Given the description of an element on the screen output the (x, y) to click on. 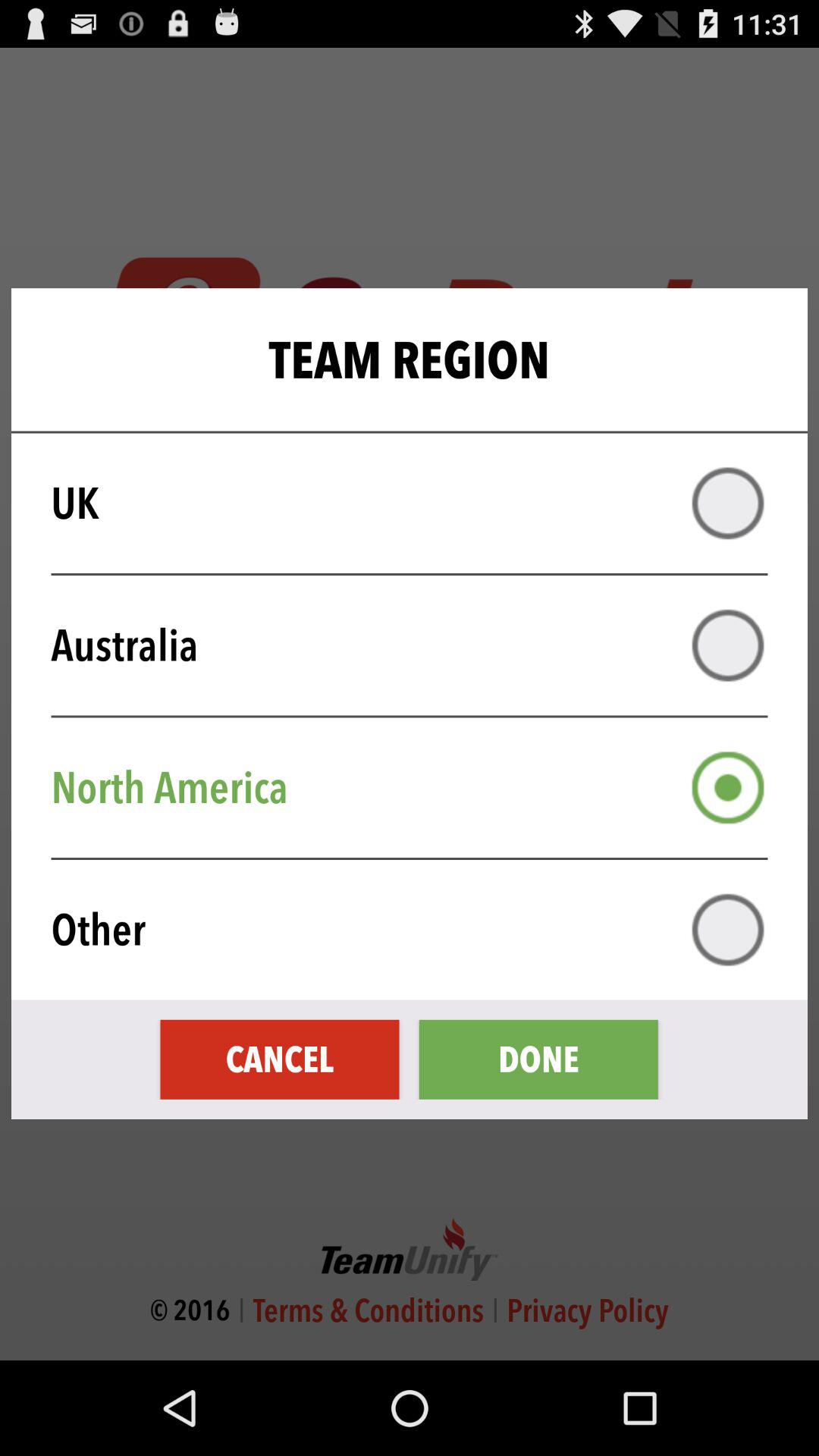
jump to other item (419, 929)
